Given the description of an element on the screen output the (x, y) to click on. 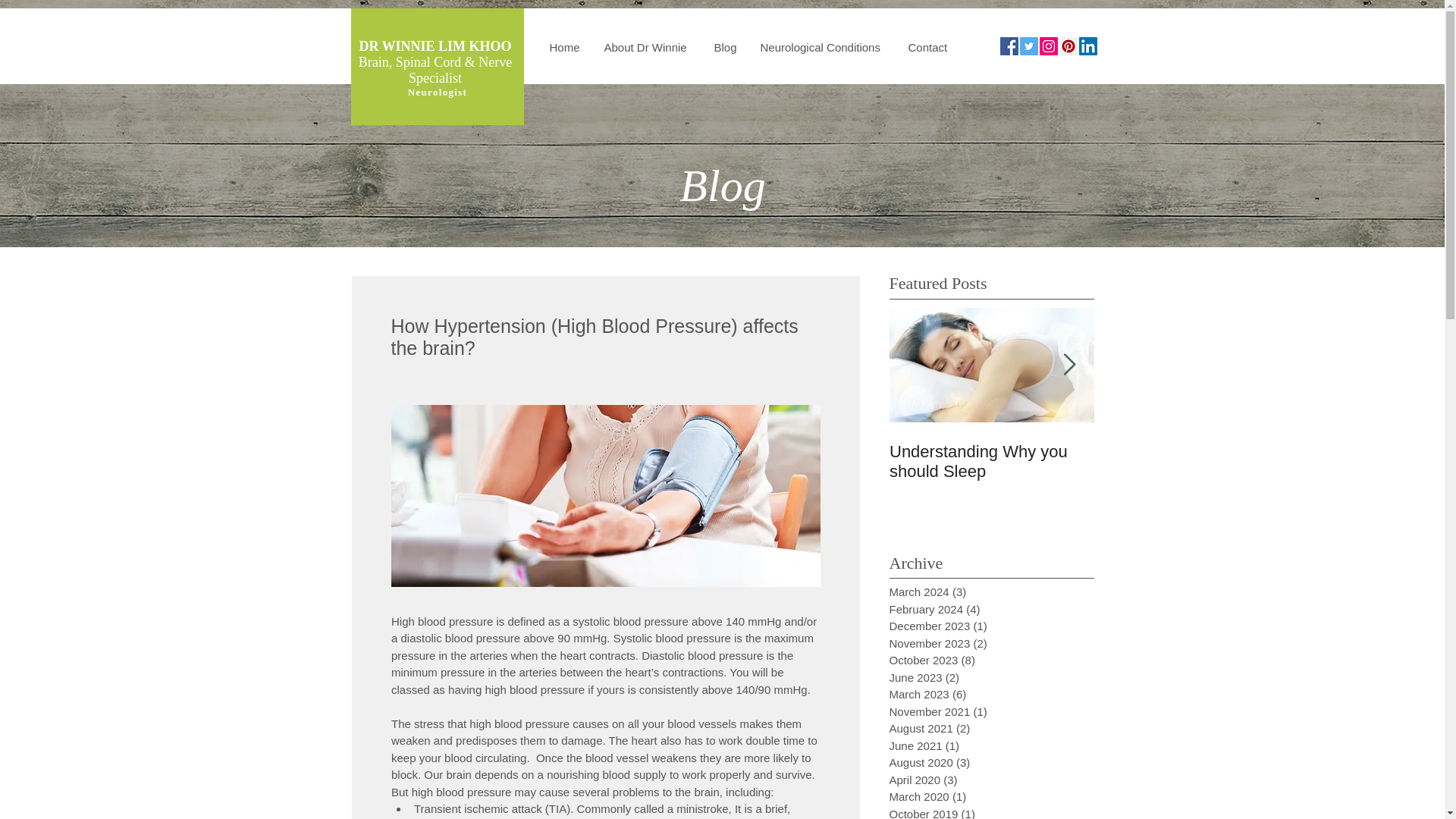
About Dr Winnie (647, 47)
Contact (927, 47)
Home (565, 47)
Blog (724, 47)
Neurological Conditions (822, 47)
